Given the description of an element on the screen output the (x, y) to click on. 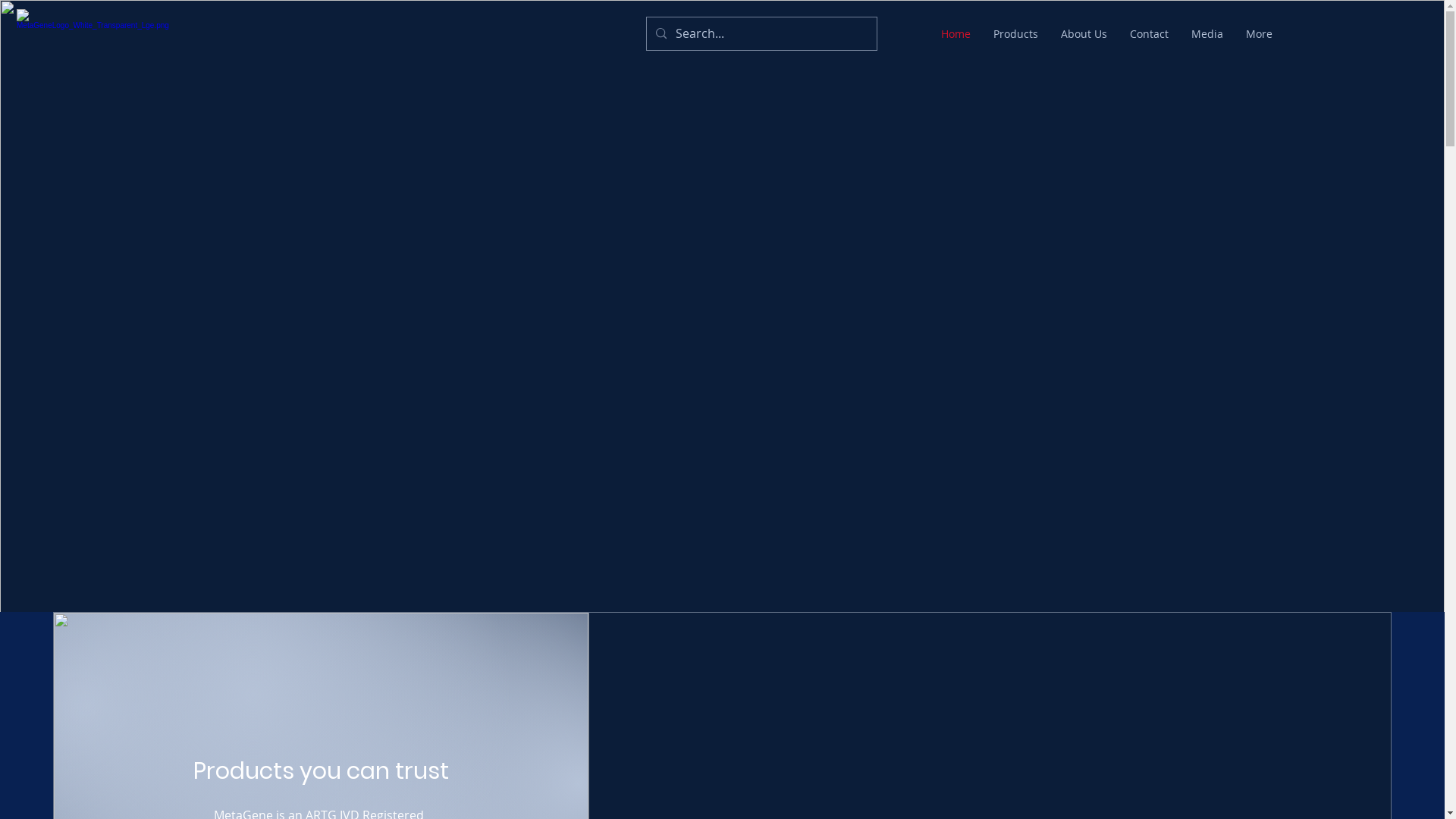
Home Element type: text (955, 34)
Contact Element type: text (1148, 34)
About Us Element type: text (1083, 34)
Products Element type: text (1015, 34)
Media Element type: text (1206, 34)
